Given the description of an element on the screen output the (x, y) to click on. 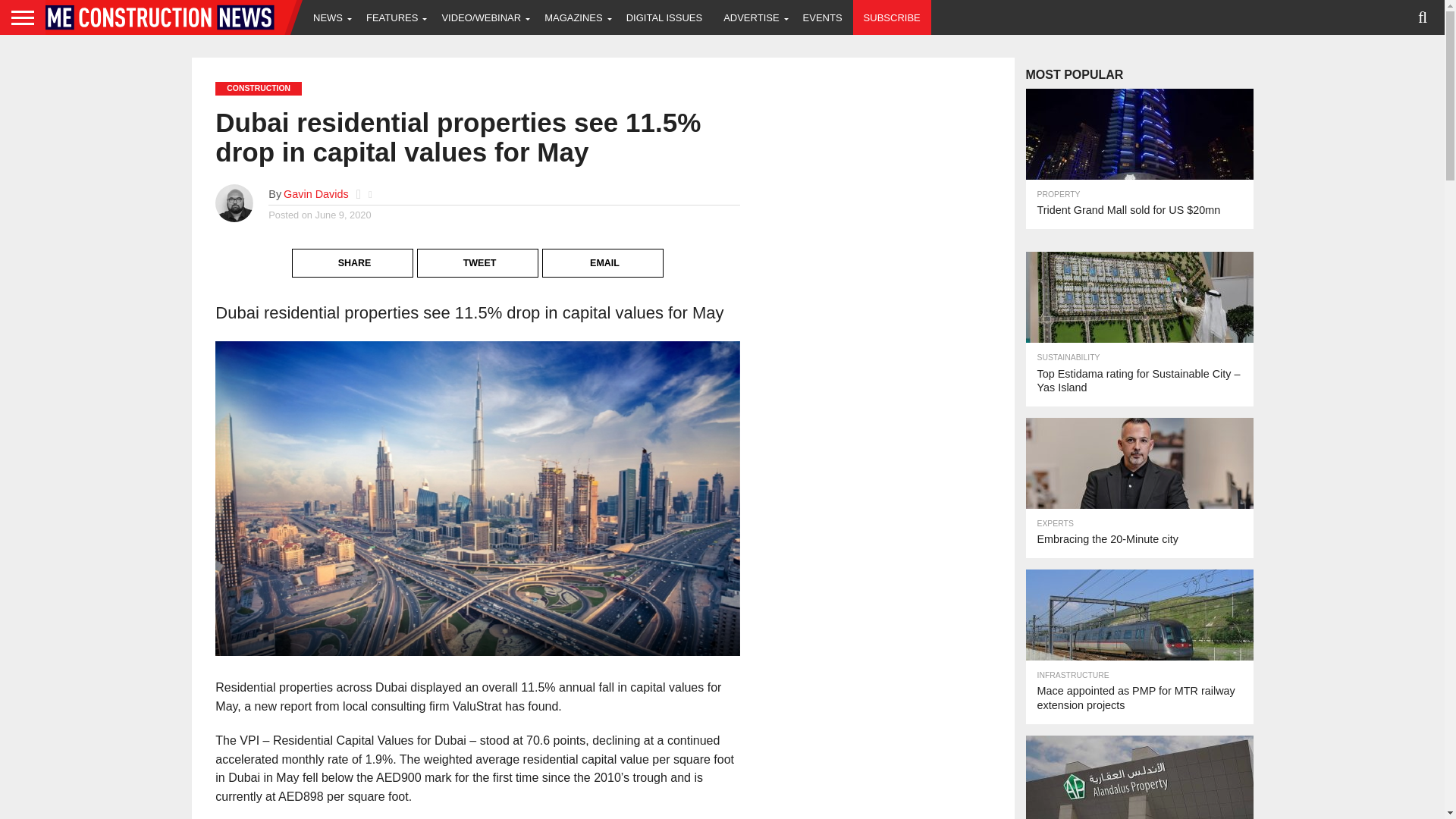
Posts by Gavin Davids (316, 193)
Share on Facebook (352, 250)
NEWS (328, 17)
Tweet This Post (477, 250)
